Given the description of an element on the screen output the (x, y) to click on. 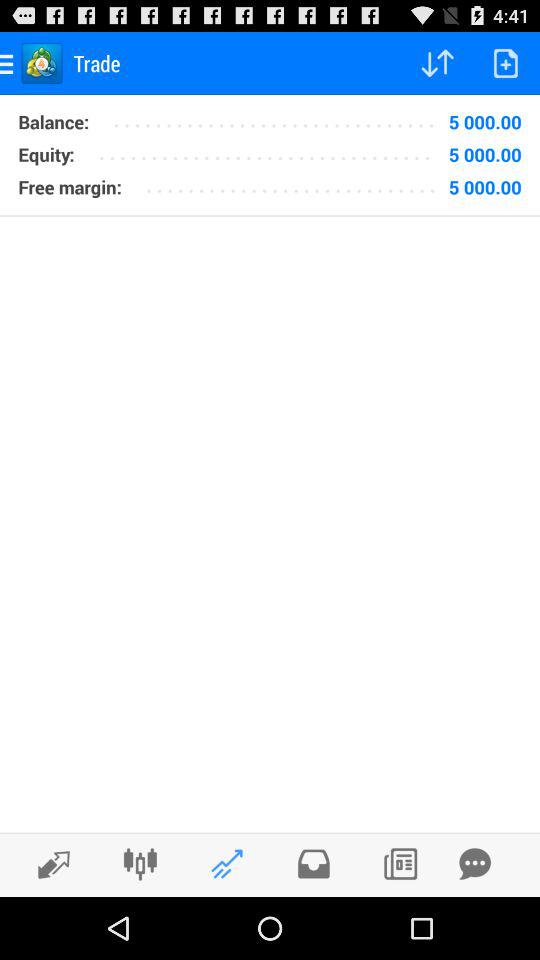
click on add page icon at the top (505, 62)
select the icon which is right to the message icon (399, 864)
select the icon which is left to the trade (42, 63)
